Given the description of an element on the screen output the (x, y) to click on. 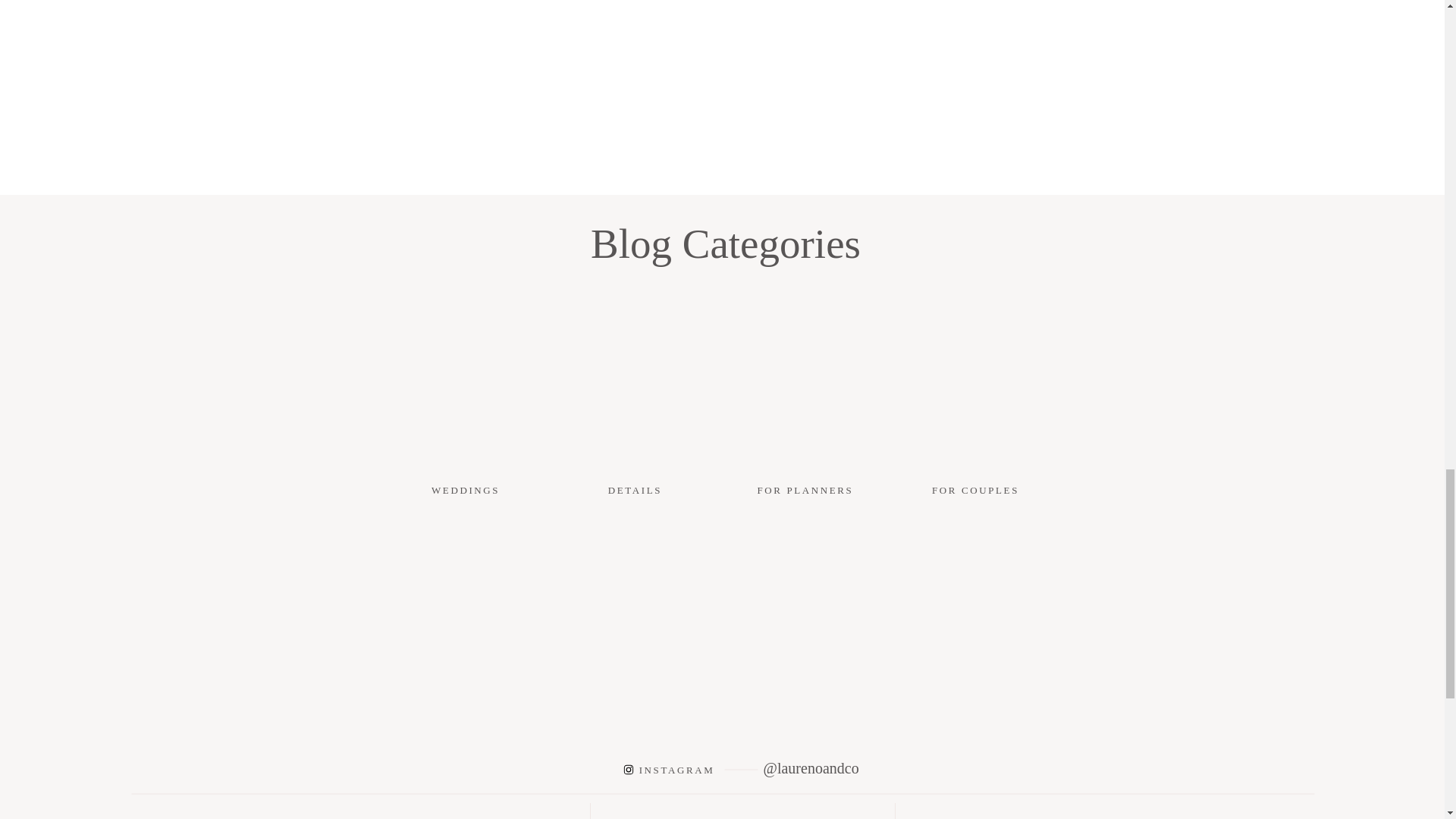
INSTAGRAM (675, 769)
FOR PLANNERS (804, 489)
FOR COUPLES (975, 489)
DETAILS (635, 489)
WEDDINGS  (467, 489)
